Given the description of an element on the screen output the (x, y) to click on. 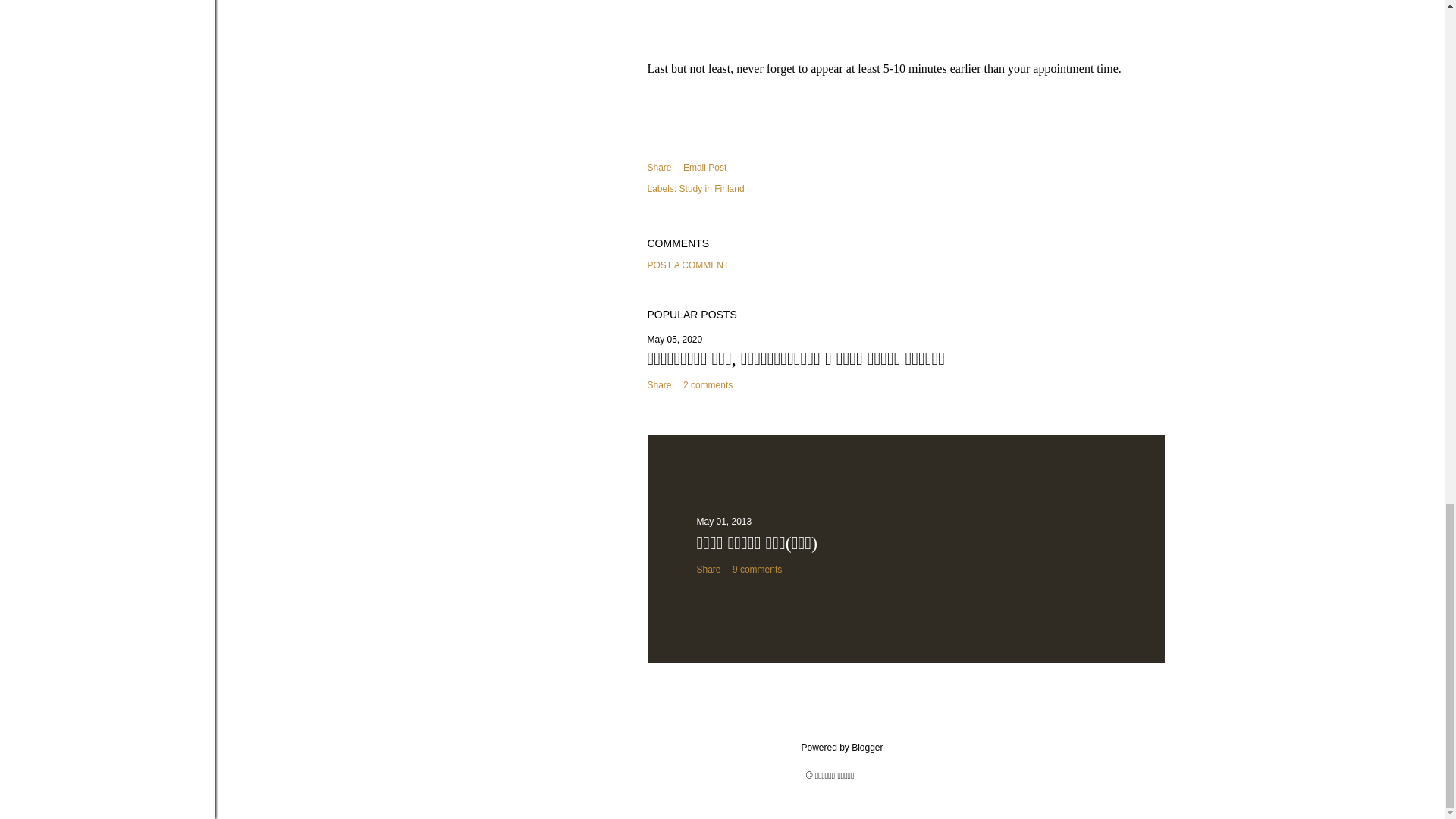
Share (659, 385)
9 comments (756, 569)
Share (707, 569)
May 01, 2013 (723, 521)
2 comments (707, 385)
permanent link (675, 339)
Study in Finland (711, 188)
Share (659, 167)
Email Post (704, 167)
May 05, 2020 (675, 339)
